Given the description of an element on the screen output the (x, y) to click on. 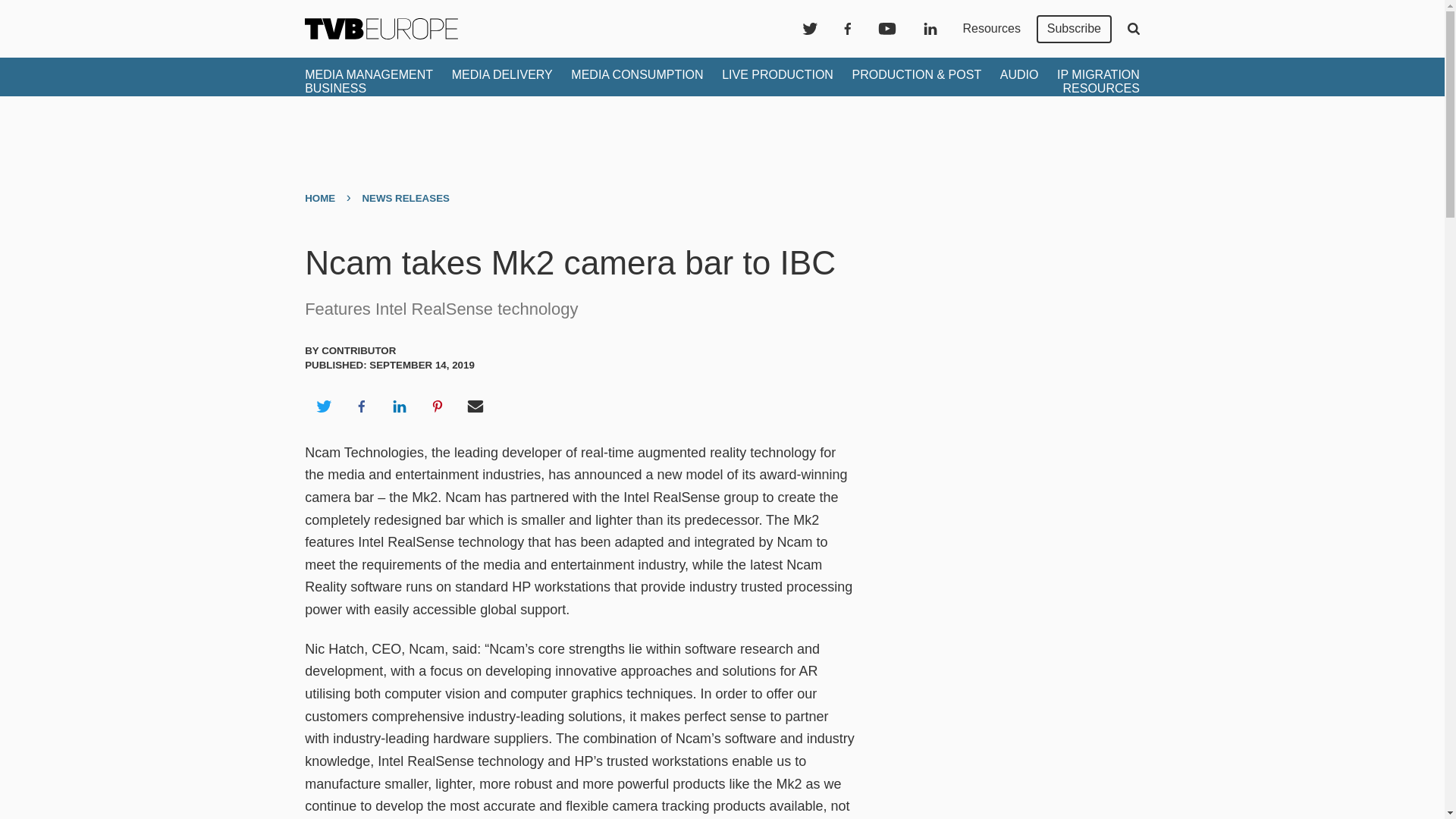
Contributor's Author Profile (358, 350)
Share on LinkedIn (399, 406)
Share on Facebook (361, 406)
Share on Pinterest (438, 406)
Share on Twitter (323, 406)
Share via Email (476, 406)
